Given the description of an element on the screen output the (x, y) to click on. 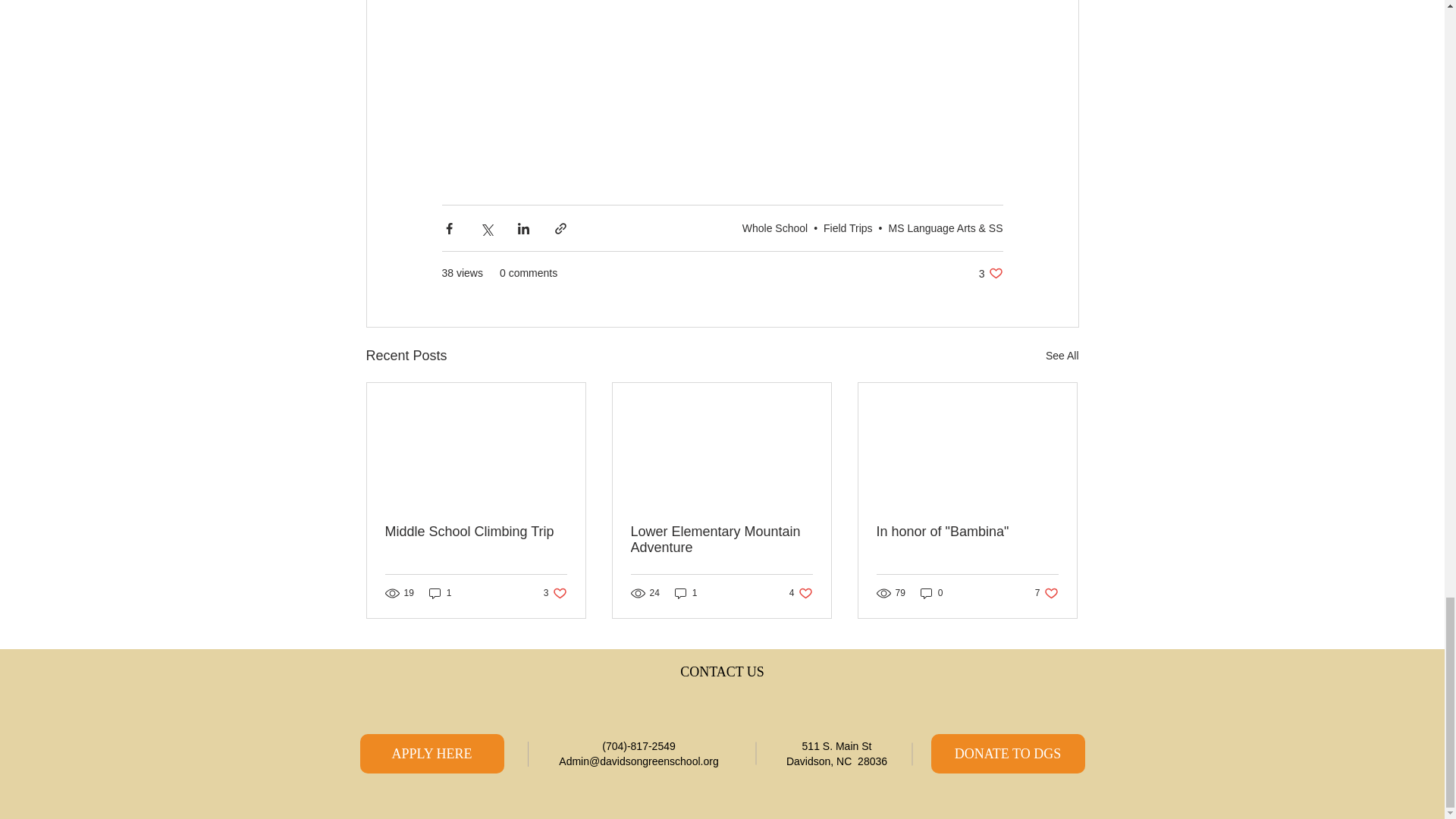
See All (990, 273)
Field Trips (1061, 355)
Whole School (848, 227)
